Given the description of an element on the screen output the (x, y) to click on. 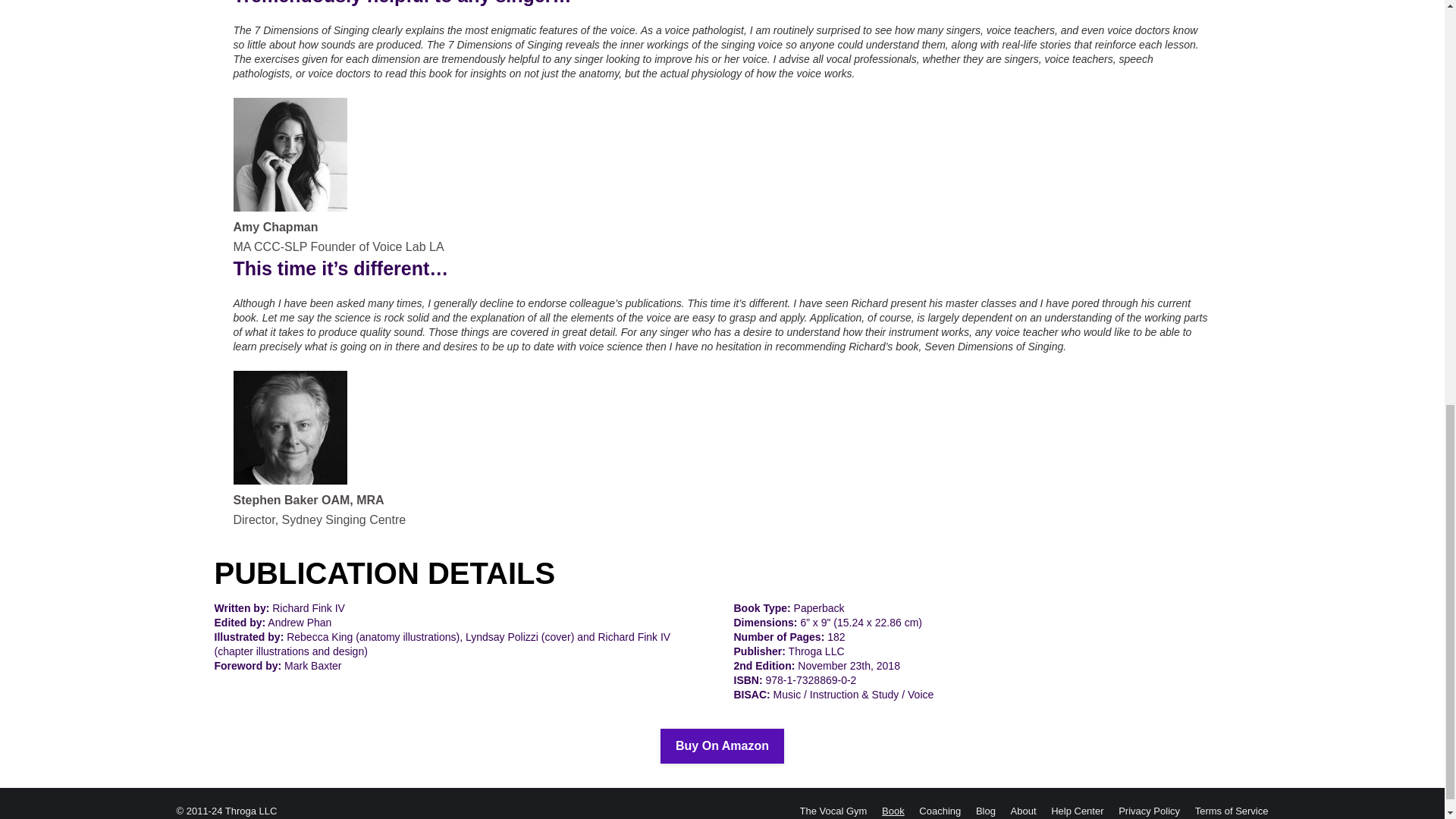
The Vocal Gym (833, 810)
Book (893, 810)
Coaching (939, 810)
Privacy Policy (1148, 810)
About (1023, 810)
Help Center (1077, 810)
Terms of Service (1231, 810)
Buy On Amazon (722, 745)
Blog (985, 810)
